Given the description of an element on the screen output the (x, y) to click on. 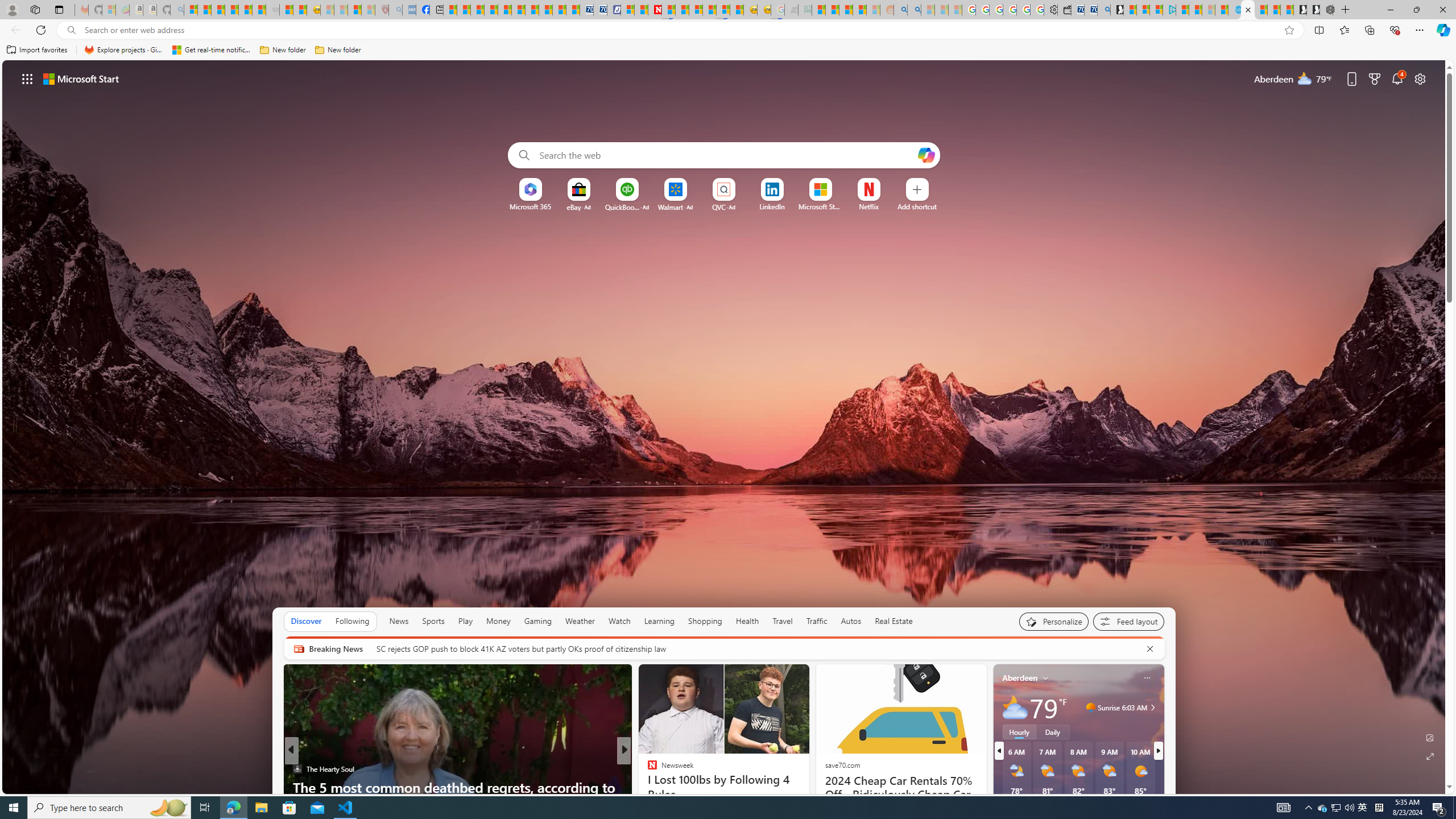
previous (998, 751)
Page settings (1420, 78)
Personalize your feed" (1054, 621)
Netflix (869, 206)
Search icon (70, 29)
Mostly cloudy (1014, 707)
